Given the description of an element on the screen output the (x, y) to click on. 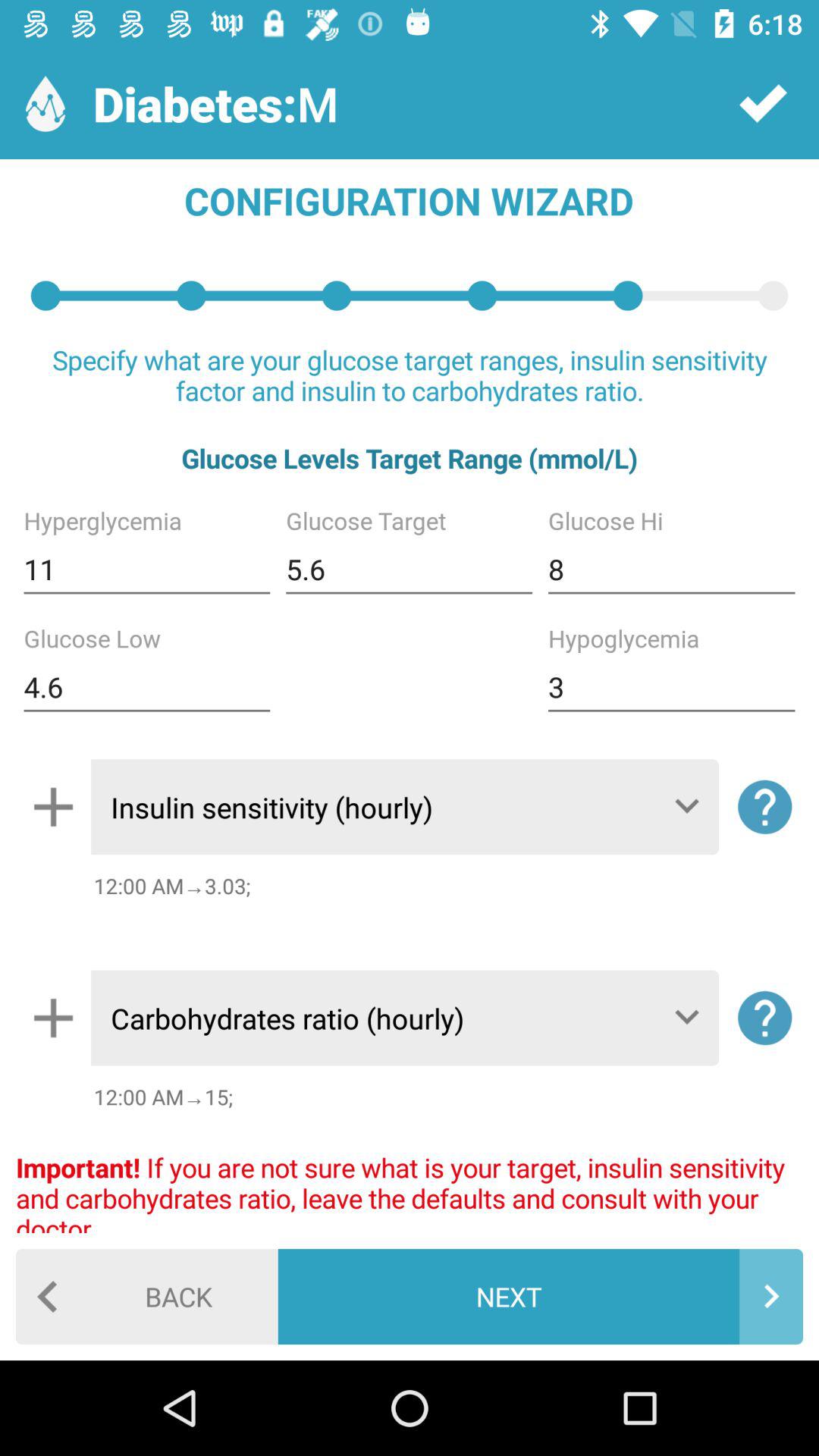
turn on the icon to the right of back item (540, 1296)
